Given the description of an element on the screen output the (x, y) to click on. 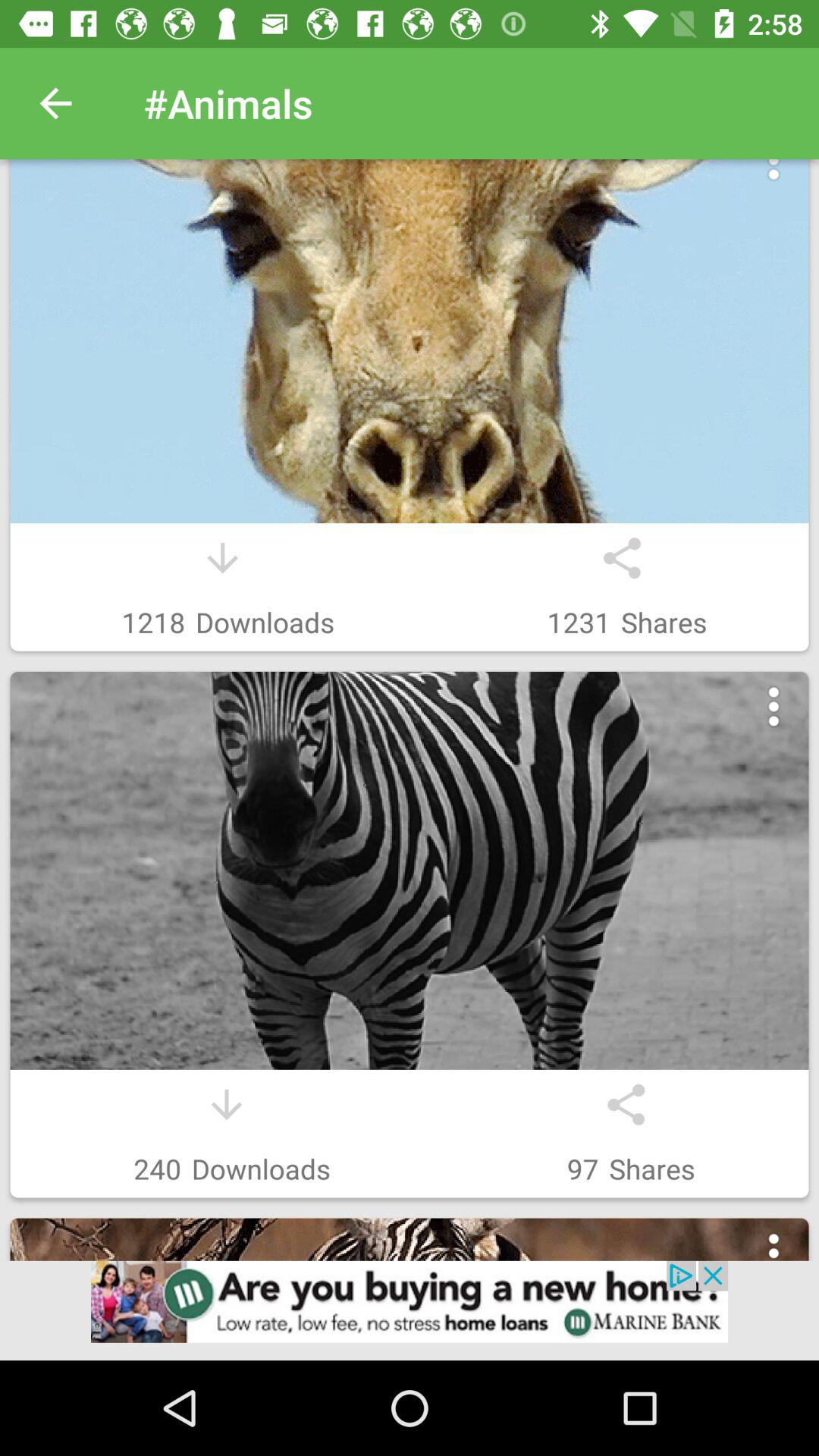
advertisement (409, 1310)
